Given the description of an element on the screen output the (x, y) to click on. 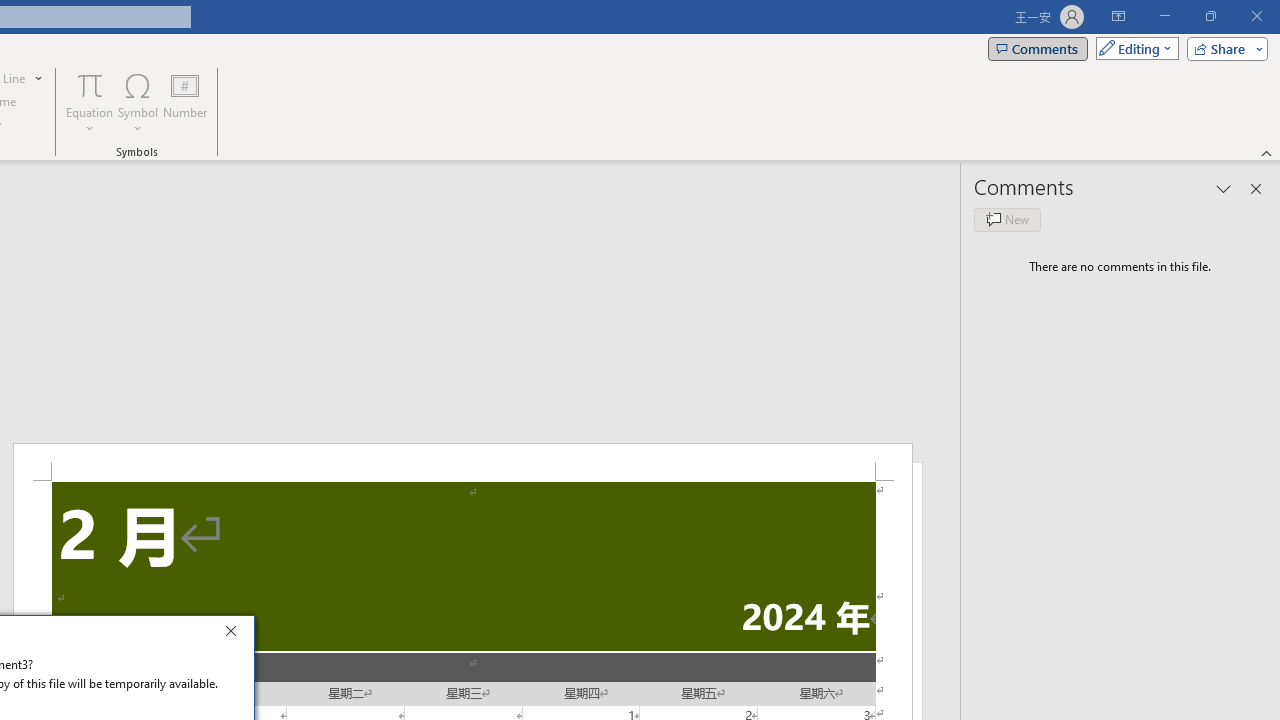
Header -Section 2- (462, 461)
Number... (185, 102)
